Given the description of an element on the screen output the (x, y) to click on. 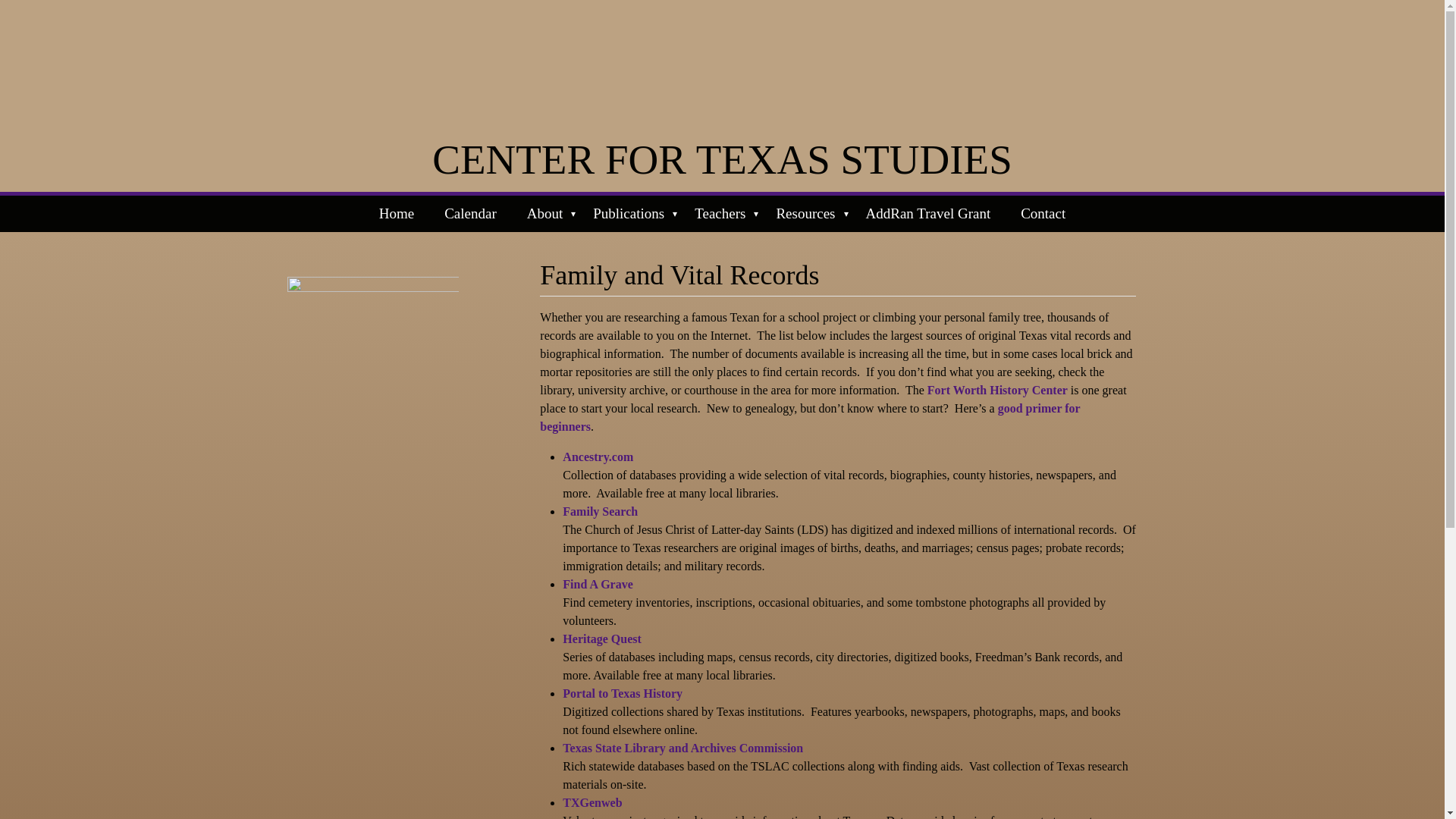
AddRan Travel Grant (928, 213)
Fort Worth History Center (997, 390)
CENTER FOR TEXAS STUDIES (721, 159)
Contact (1043, 213)
Find A Grave (596, 584)
Portal to Texas History (622, 693)
Heritage Quest (602, 638)
good primer for beginners (810, 417)
Calendar (470, 213)
Teachers (719, 213)
